Given the description of an element on the screen output the (x, y) to click on. 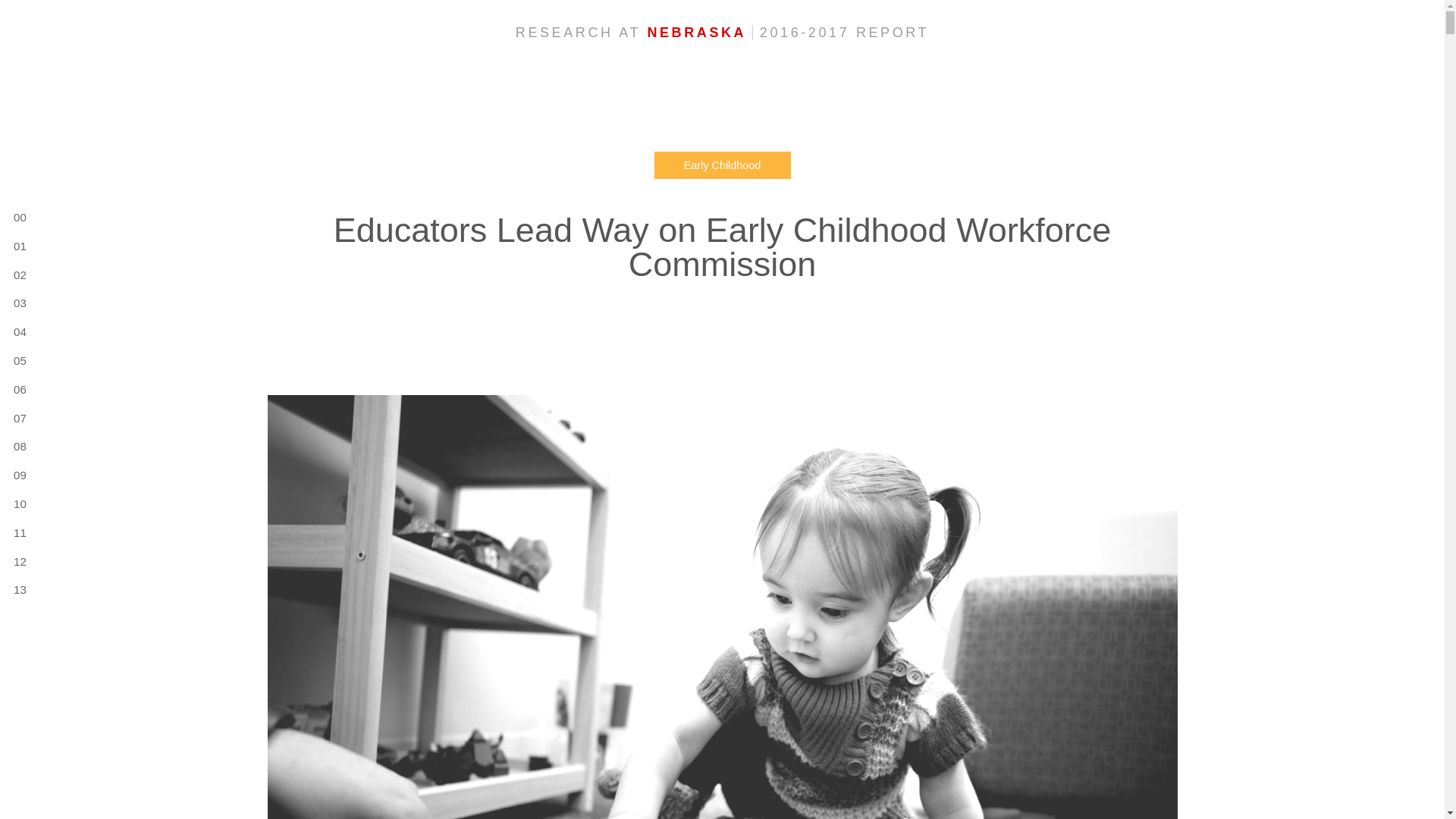
Early Childhood (721, 165)
11 (18, 532)
01 (18, 245)
00 (18, 217)
13 (18, 588)
08 (18, 445)
03 (18, 302)
10 (18, 503)
04 (18, 331)
06 (18, 389)
05 (18, 360)
09 (18, 475)
07 (18, 417)
02 (18, 274)
12 (18, 561)
